Given the description of an element on the screen output the (x, y) to click on. 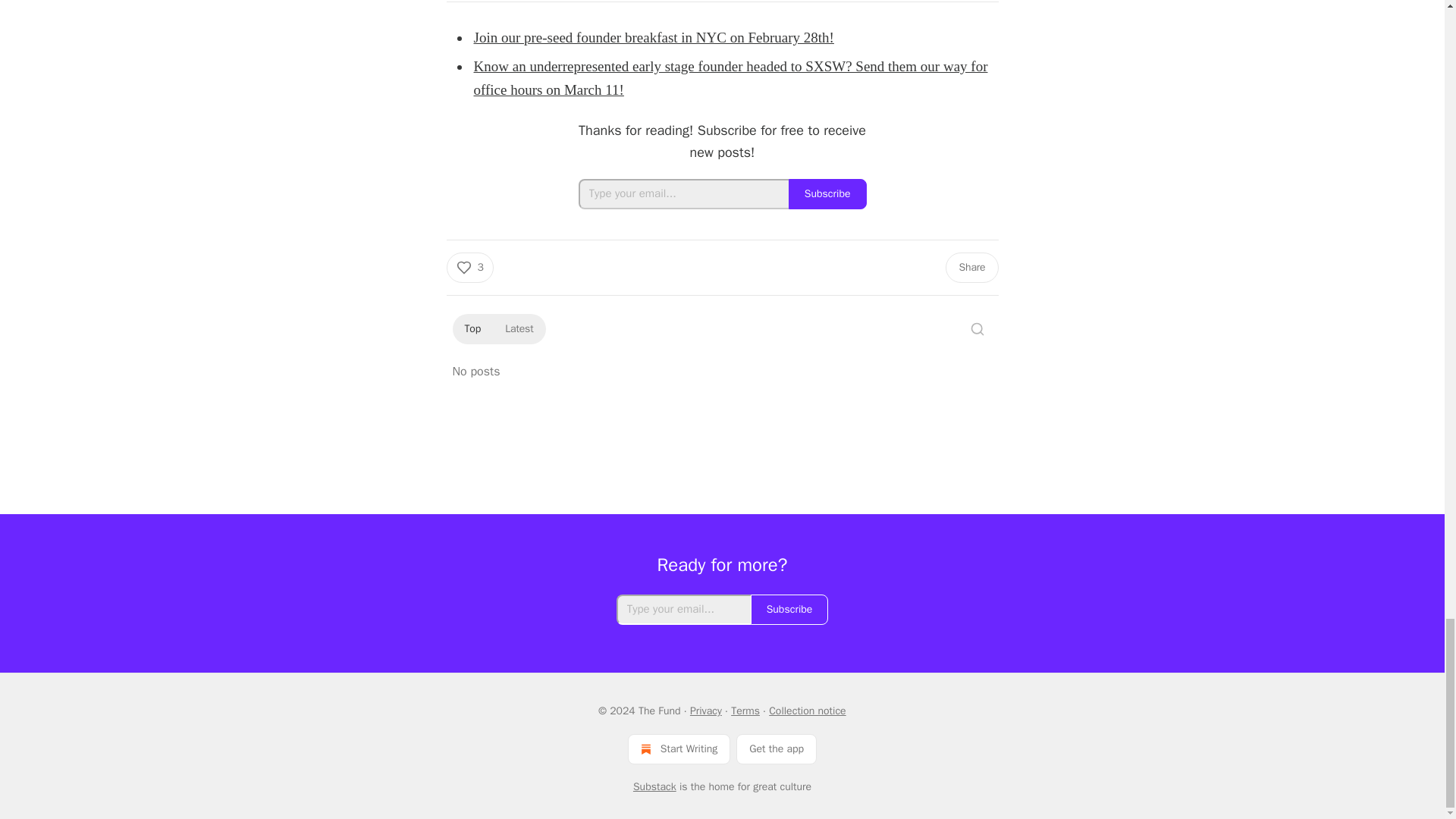
Latest (518, 328)
Top (471, 328)
Join our pre-seed founder breakfast in NYC on February 28th! (652, 37)
Subscribe (789, 609)
Subscribe (827, 194)
3 (469, 267)
Share (970, 267)
